Given the description of an element on the screen output the (x, y) to click on. 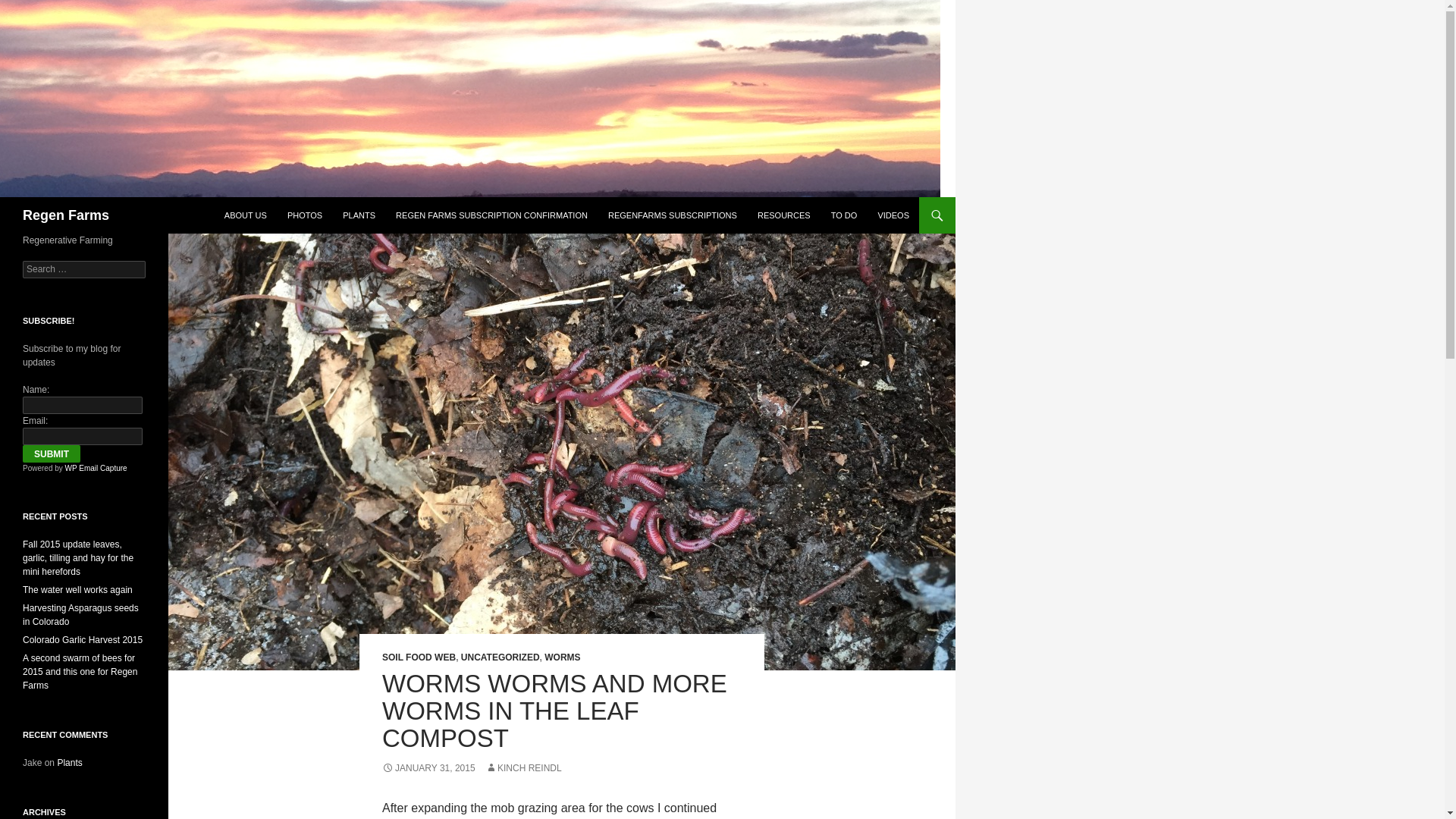
Search (30, 8)
Name (82, 405)
PHOTOS (304, 215)
JANUARY 31, 2015 (428, 767)
PLANTS (358, 215)
TO DO (844, 215)
Email (82, 436)
SOIL FOOD WEB (418, 656)
Plants (68, 762)
